Given the description of an element on the screen output the (x, y) to click on. 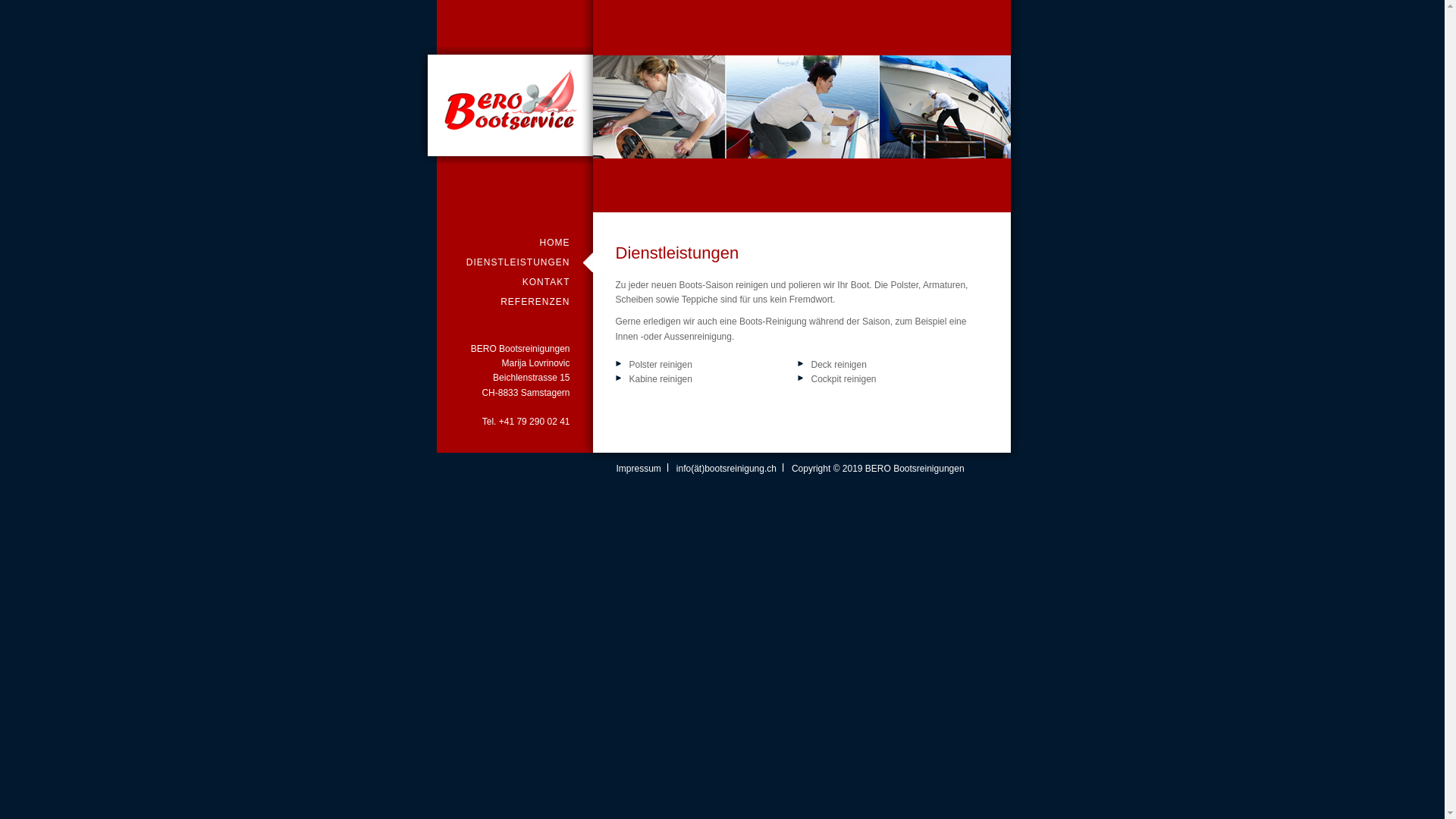
REFERENZEN Element type: text (514, 301)
HOME Element type: text (514, 242)
DIENSTLEISTUNGEN Element type: text (514, 262)
Impressum Element type: text (637, 468)
KONTAKT Element type: text (514, 281)
